Given the description of an element on the screen output the (x, y) to click on. 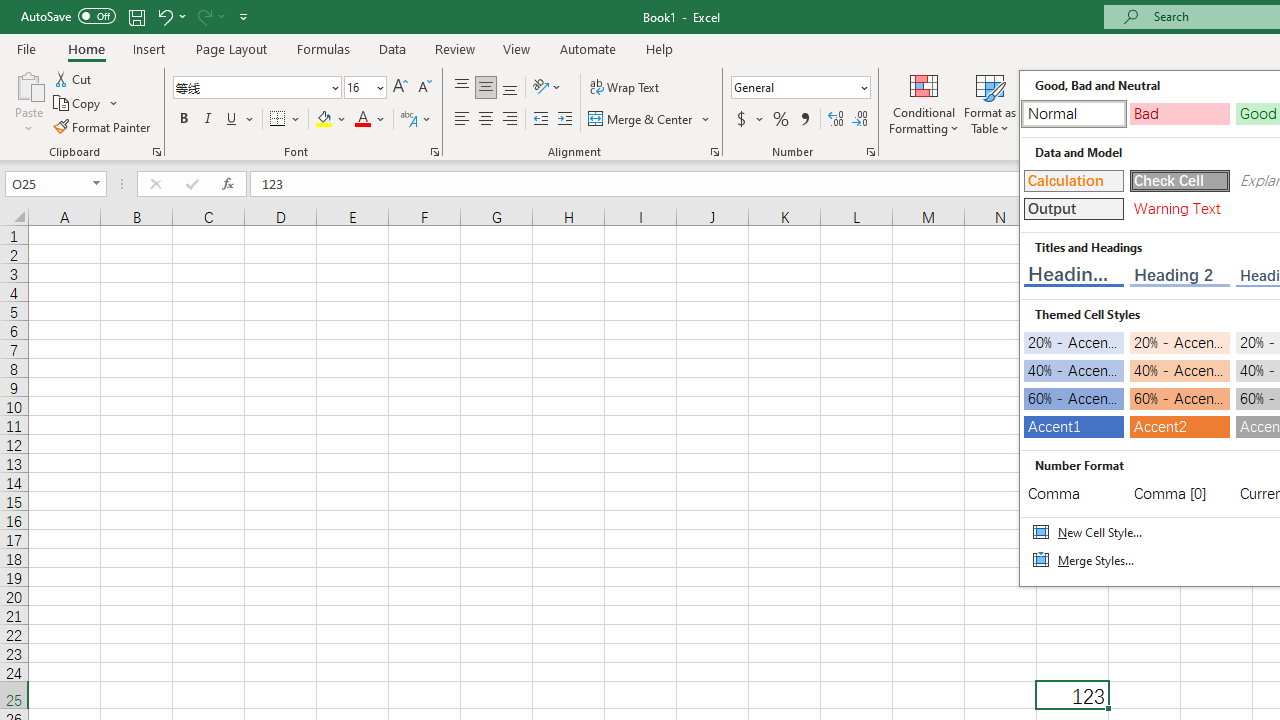
Underline (239, 119)
Format as Table (990, 102)
Italic (207, 119)
Fill Color RGB(255, 255, 0) (324, 119)
Underline (232, 119)
Merge & Center (641, 119)
Decrease Decimal (859, 119)
Font Color (370, 119)
Show Phonetic Field (408, 119)
Format Painter (103, 126)
Align Left (461, 119)
Font Color RGB(255, 0, 0) (362, 119)
Wrap Text (624, 87)
